Given the description of an element on the screen output the (x, y) to click on. 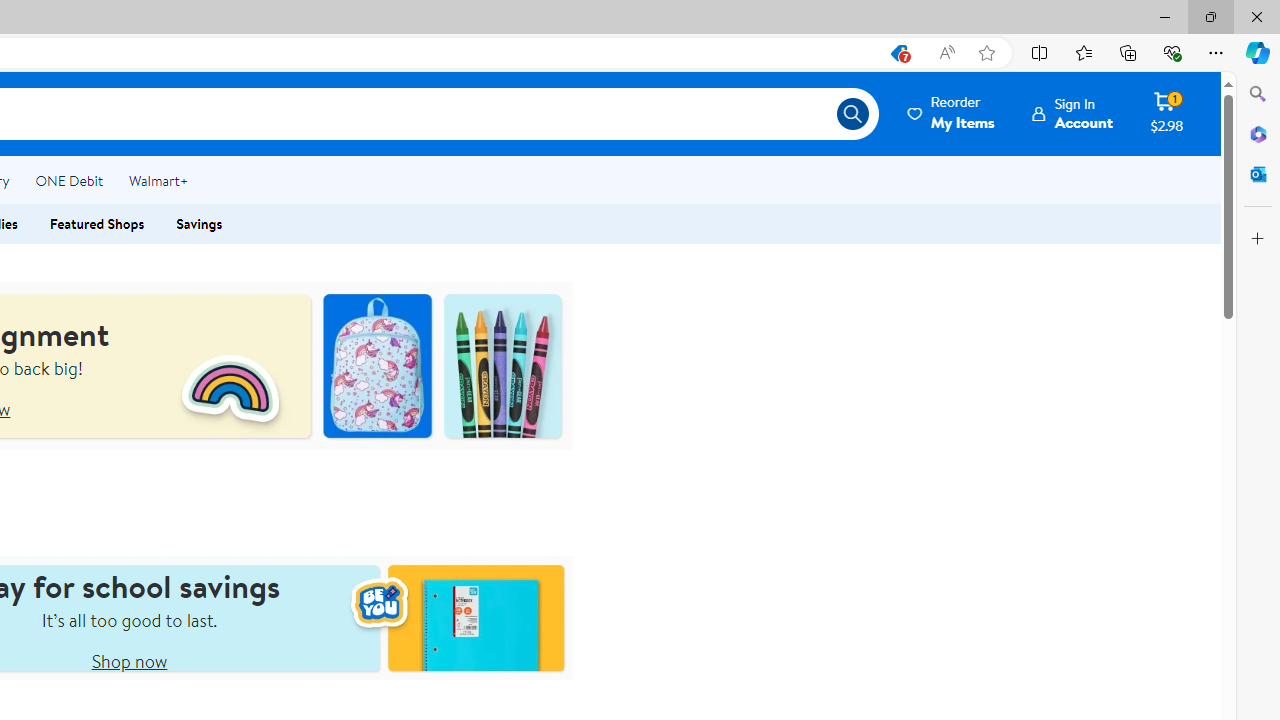
Cart contains 1 item Total Amount $2.98 (1166, 113)
Sign InAccount (1072, 113)
Sign In Account (1072, 113)
Featured Shops (97, 224)
Savings (199, 224)
Walmart+ (158, 180)
